Given the description of an element on the screen output the (x, y) to click on. 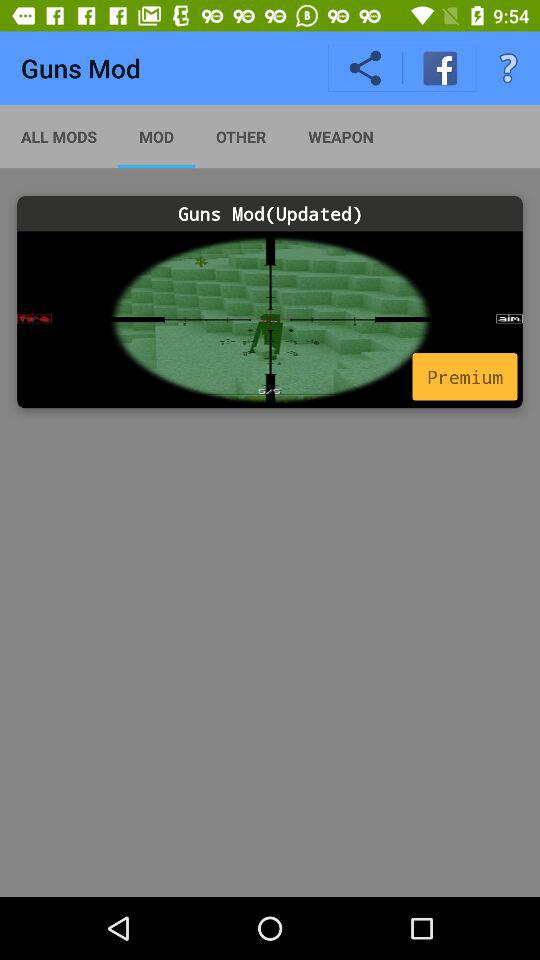
open other icon (240, 136)
